Given the description of an element on the screen output the (x, y) to click on. 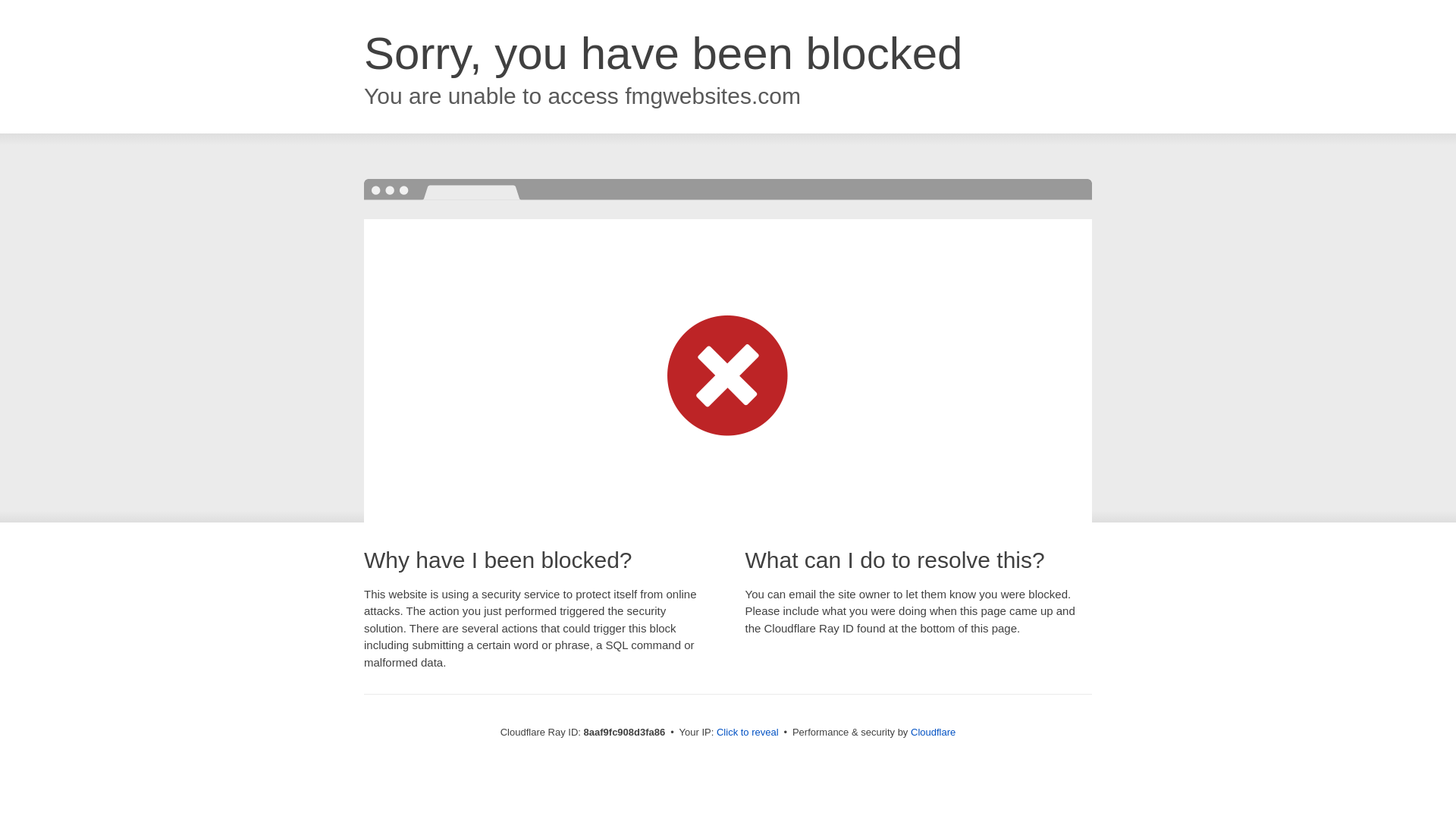
Cloudflare (933, 731)
Click to reveal (747, 732)
